Given the description of an element on the screen output the (x, y) to click on. 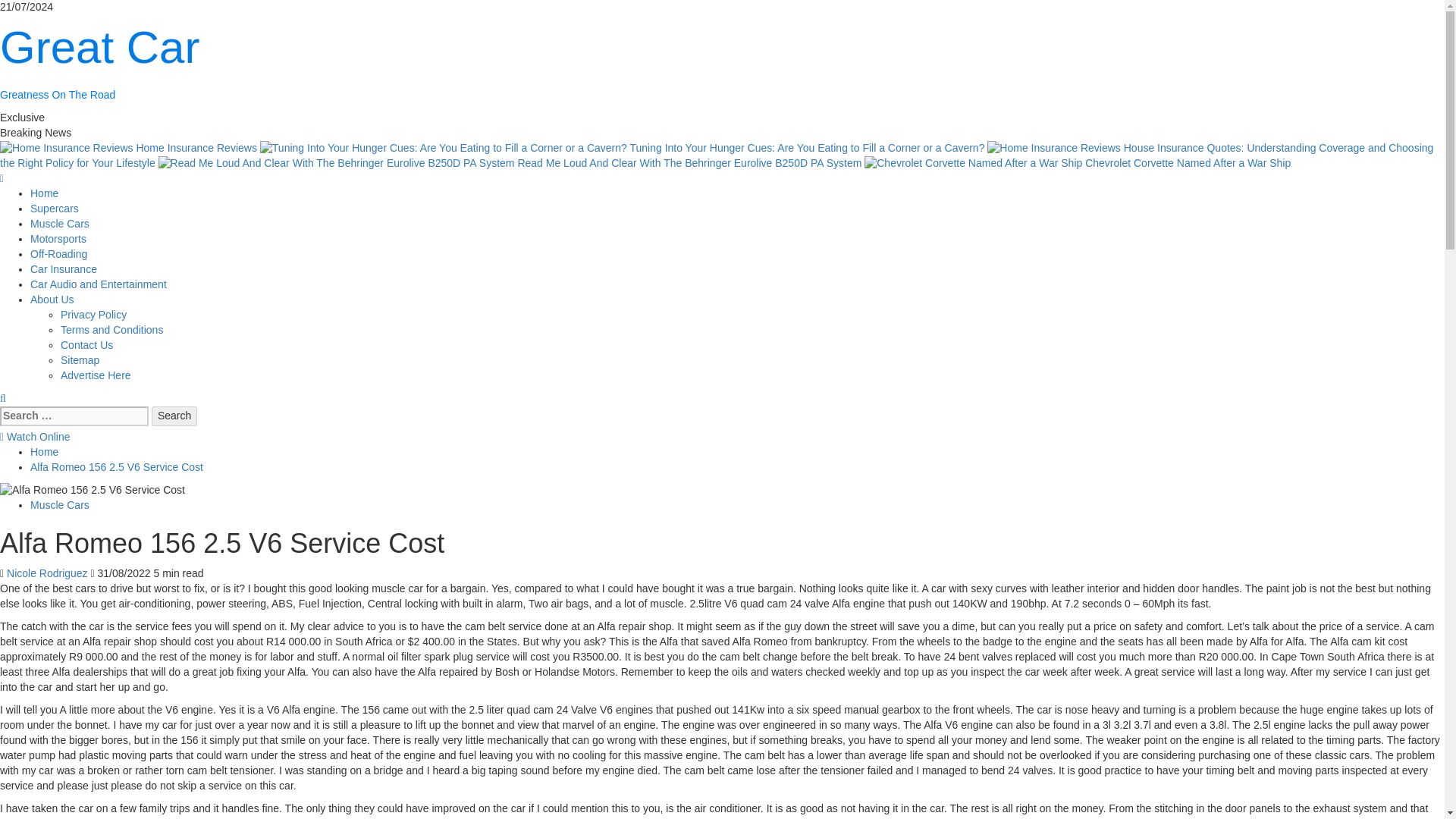
Search (173, 415)
Advertise Here (96, 375)
Watch Online (34, 436)
Supercars (54, 208)
Great Car (99, 47)
Muscle Cars (59, 223)
Home Insurance Reviews (66, 148)
Home Insurance Reviews (130, 147)
Alfa Romeo 156 2.5 V6 Service Cost (116, 467)
Contact Us (87, 345)
Privacy Policy (93, 314)
Chevrolet Corvette Named After a War Ship (972, 163)
